Given the description of an element on the screen output the (x, y) to click on. 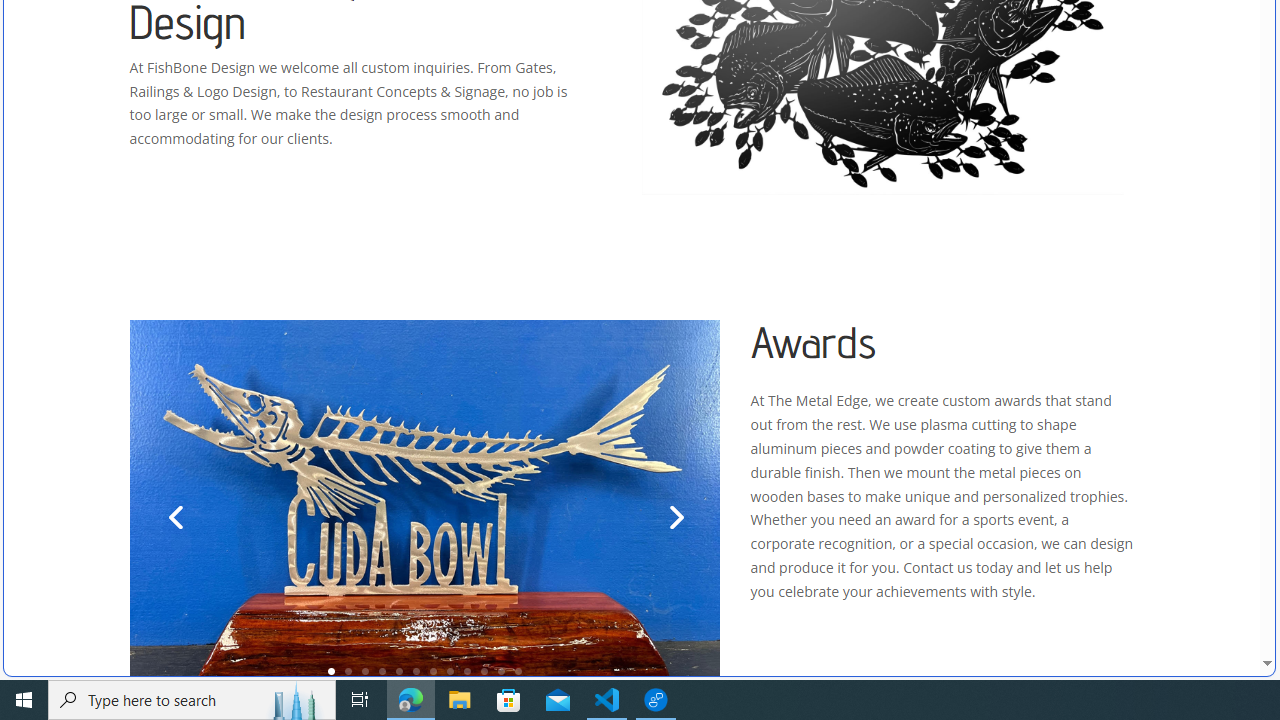
8 (450, 670)
12 (518, 670)
2 (348, 670)
3 (365, 670)
1 (331, 670)
7 (433, 670)
5 (399, 670)
6 (416, 670)
11 (501, 670)
9 (467, 670)
4 (382, 670)
10 (484, 670)
